Given the description of an element on the screen output the (x, y) to click on. 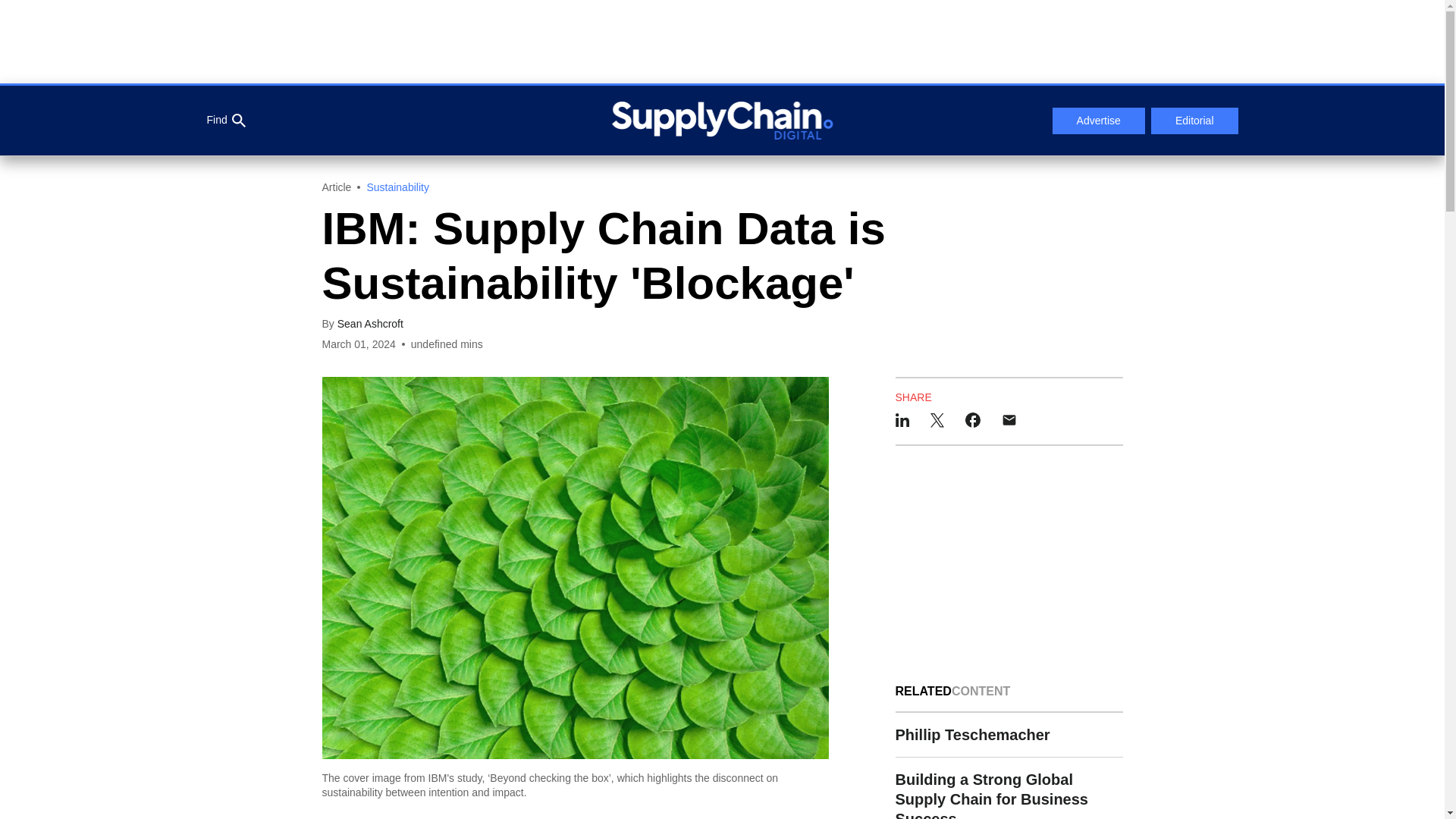
Phillip Teschemacher (1008, 734)
Advertise (1098, 121)
Editorial (1195, 121)
Find (225, 120)
Sean Ashcroft (370, 323)
